Given the description of an element on the screen output the (x, y) to click on. 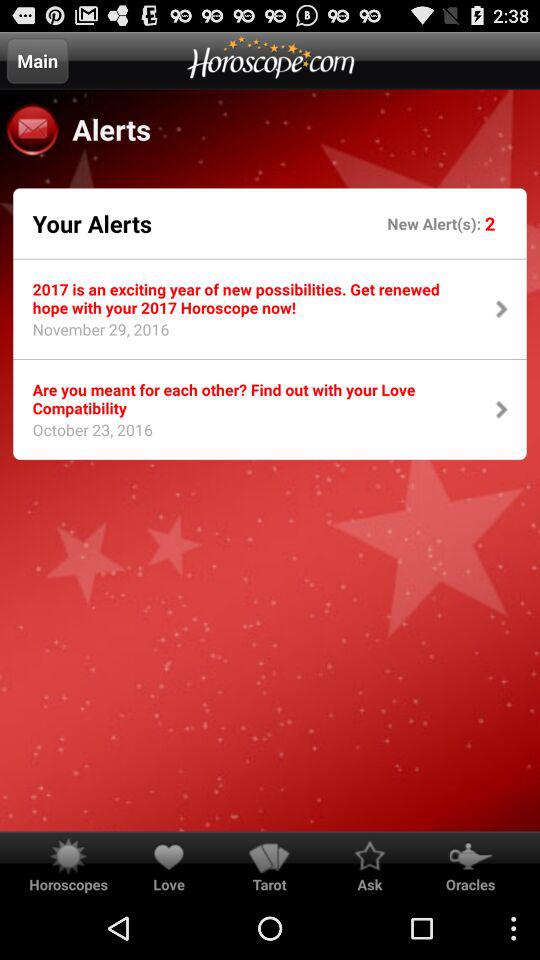
choose the app below the your alerts app (250, 298)
